Given the description of an element on the screen output the (x, y) to click on. 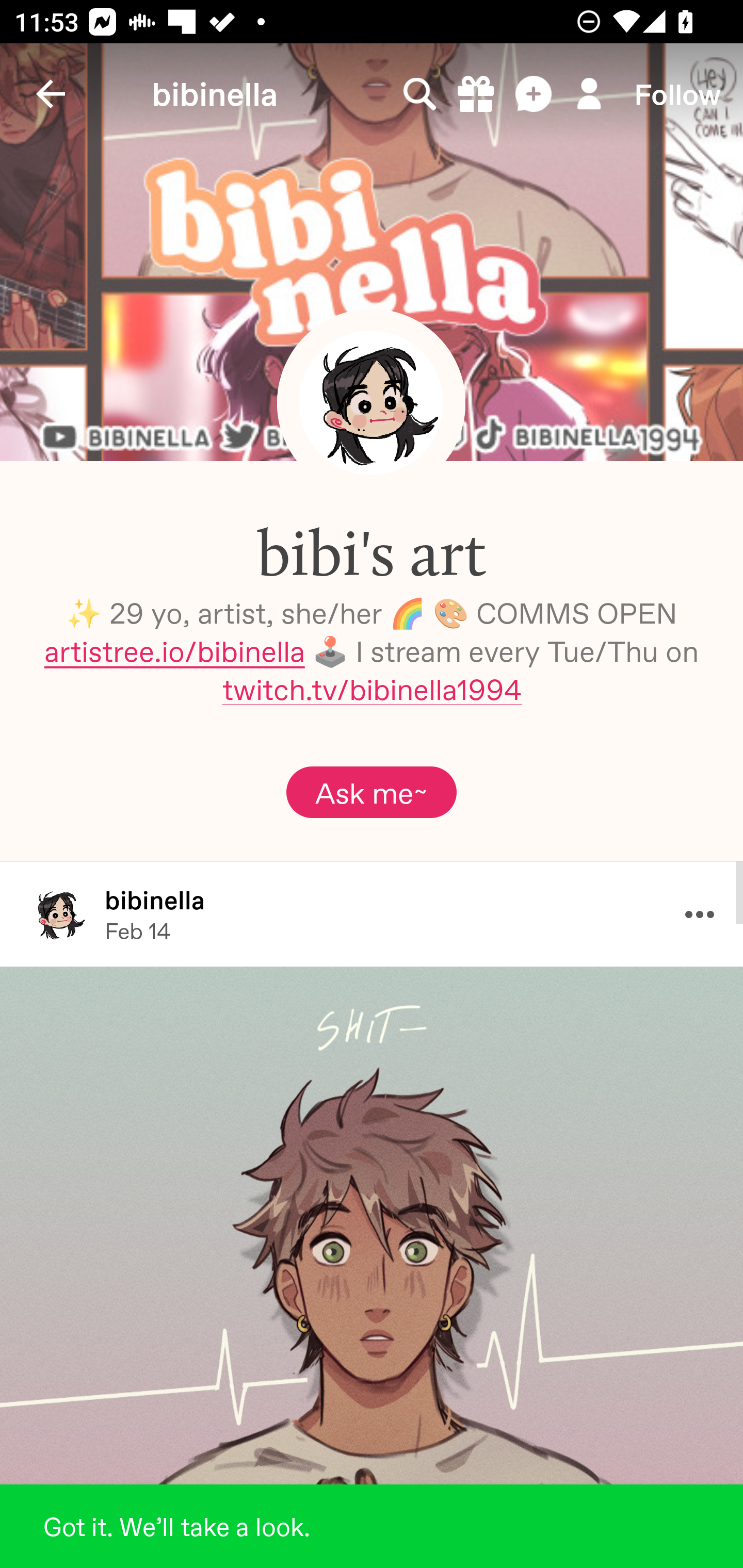
Navigate up (50, 93)
Messages (535, 93)
Follow (677, 93)
Avatar frame (371, 402)
Ask me~ (371, 792)
Avatar frame bibinella   bibinella Feb 14 (371, 912)
Got it. We’ll take a look. (371, 1526)
